Given the description of an element on the screen output the (x, y) to click on. 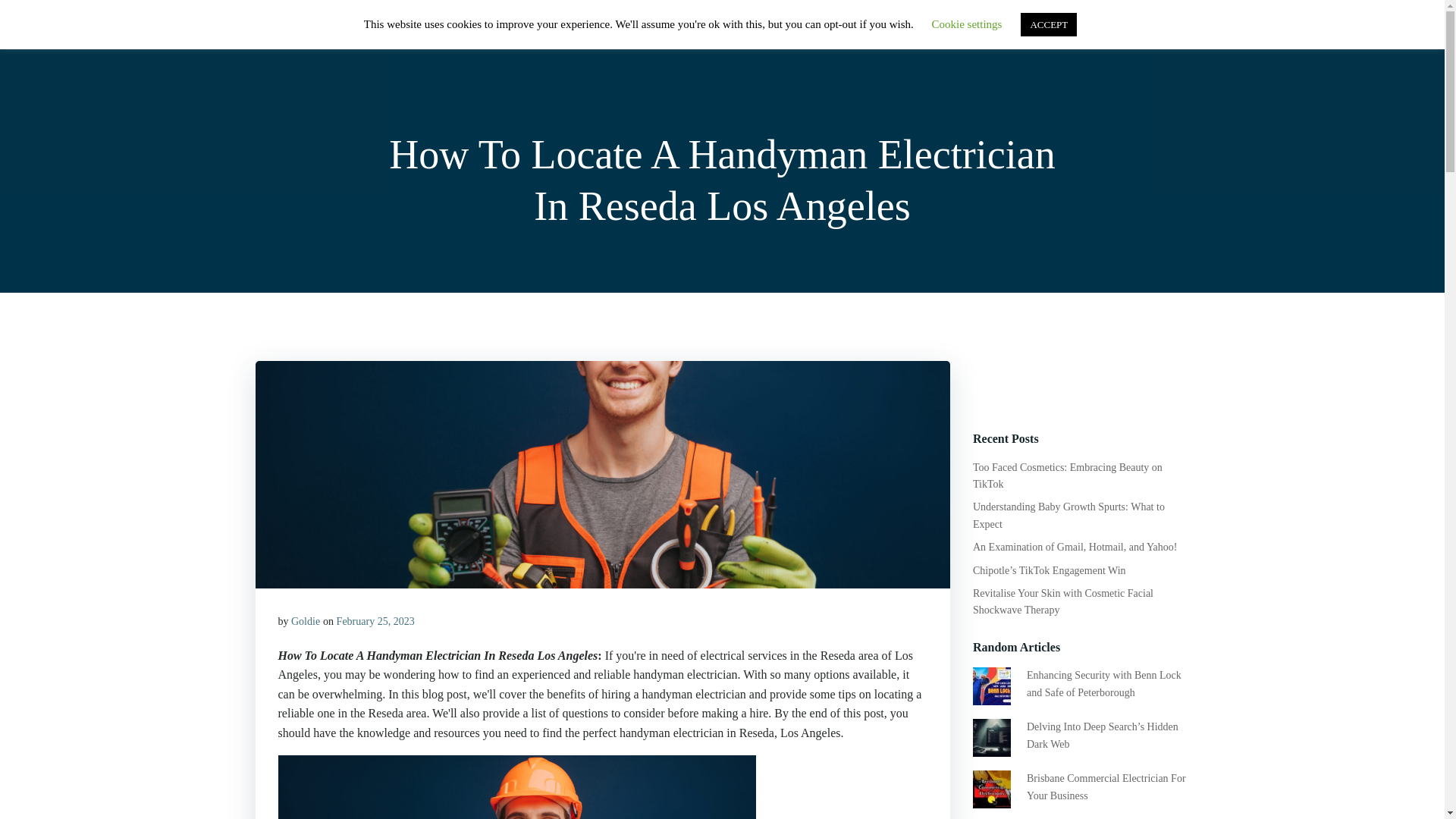
Enhancing Security with Benn Lock and Safe of Peterborough (1103, 683)
ARTICLES (1014, 33)
February 25, 2023 (375, 621)
Brisbane Commercial Electrician For Your Business (1106, 786)
An Examination of Gmail, Hotmail, and Yahoo! (1074, 546)
Goldie (305, 621)
Understanding Baby Growth Spurts: What to Expect (1068, 515)
LEGAL (1155, 33)
LOGIN (1088, 33)
SHOP (942, 33)
Revitalise Your Skin with Cosmetic Facial Shockwave Therapy (1062, 601)
HOME (879, 33)
Too Faced Cosmetics: Embracing Beauty on TikTok (1066, 475)
AD4SC (283, 33)
